Given the description of an element on the screen output the (x, y) to click on. 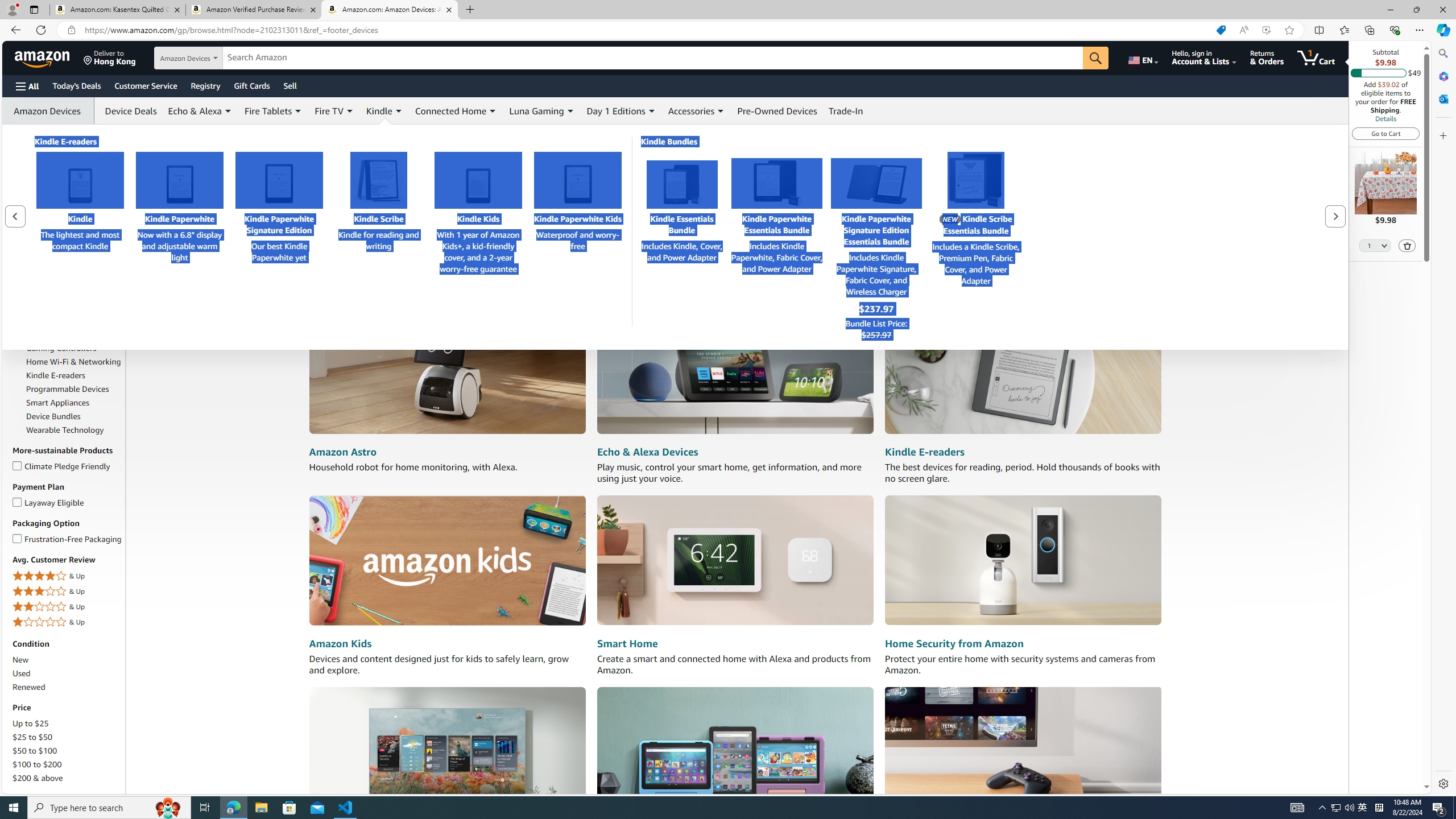
Amazon Kids (447, 560)
Hello, sign in Account & Lists (1203, 57)
Fire Tablet devices (734, 751)
Gift Cards (251, 85)
Enhance video (1266, 29)
Delete (1407, 245)
